Given the description of an element on the screen output the (x, y) to click on. 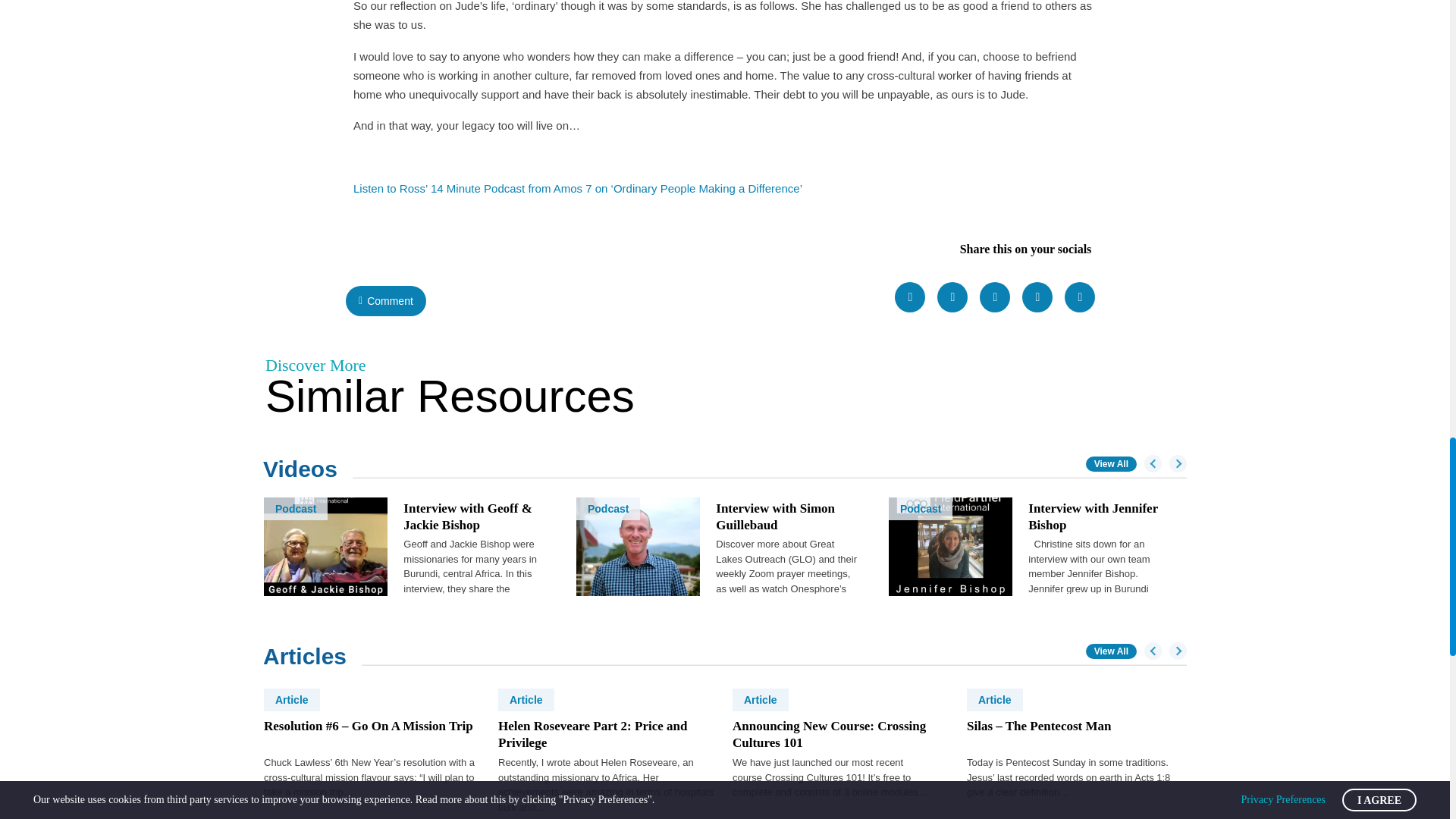
Facebook (909, 296)
LinkedIn (1079, 296)
Pinterest (994, 296)
Twitter (952, 296)
Tumblr (1037, 296)
